Given the description of an element on the screen output the (x, y) to click on. 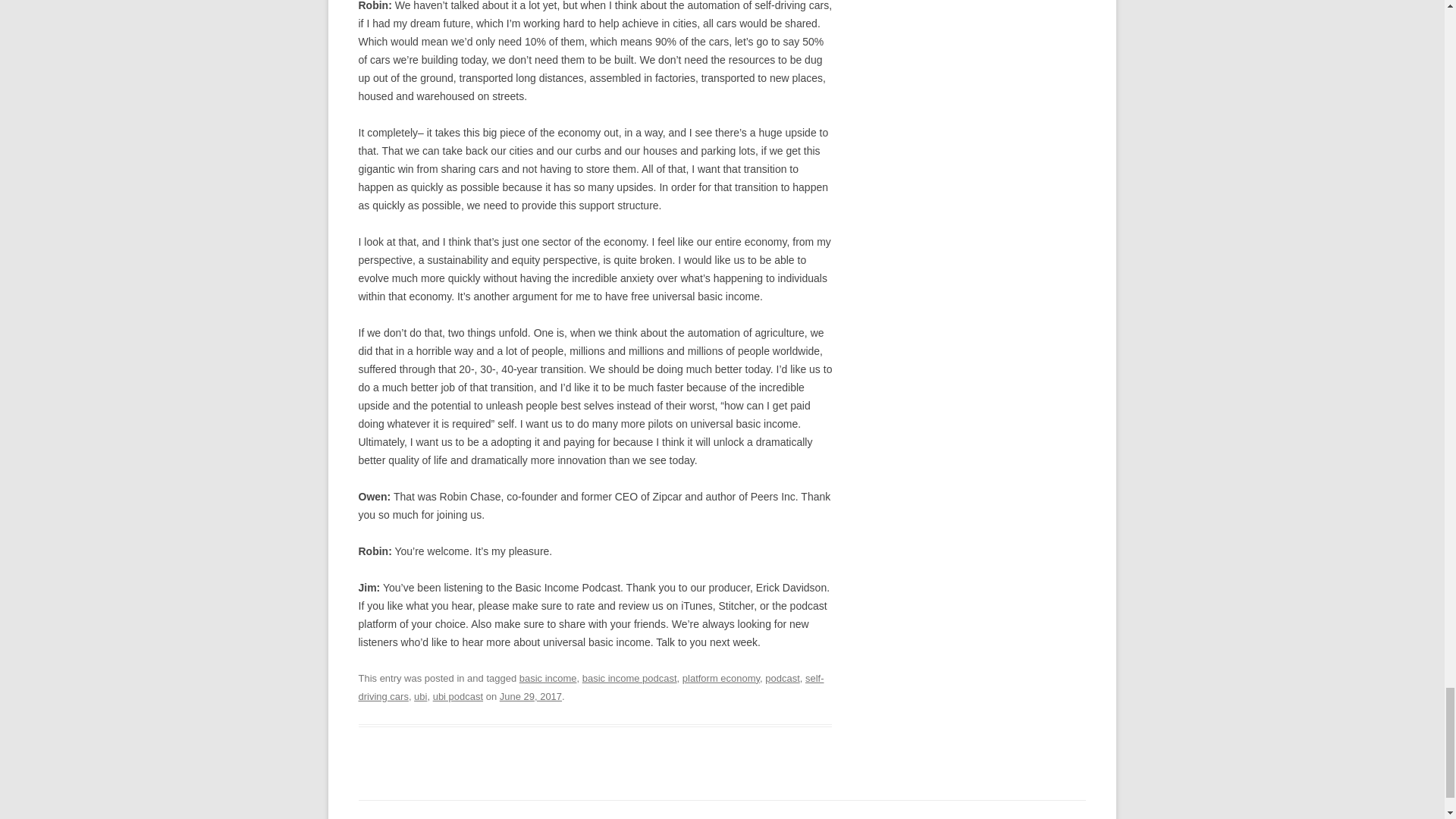
ubi (419, 696)
June 29, 2017 (530, 696)
basic income (547, 677)
self-driving cars (591, 686)
ubi podcast (457, 696)
basic income podcast (629, 677)
platform economy (721, 677)
podcast (782, 677)
